Given the description of an element on the screen output the (x, y) to click on. 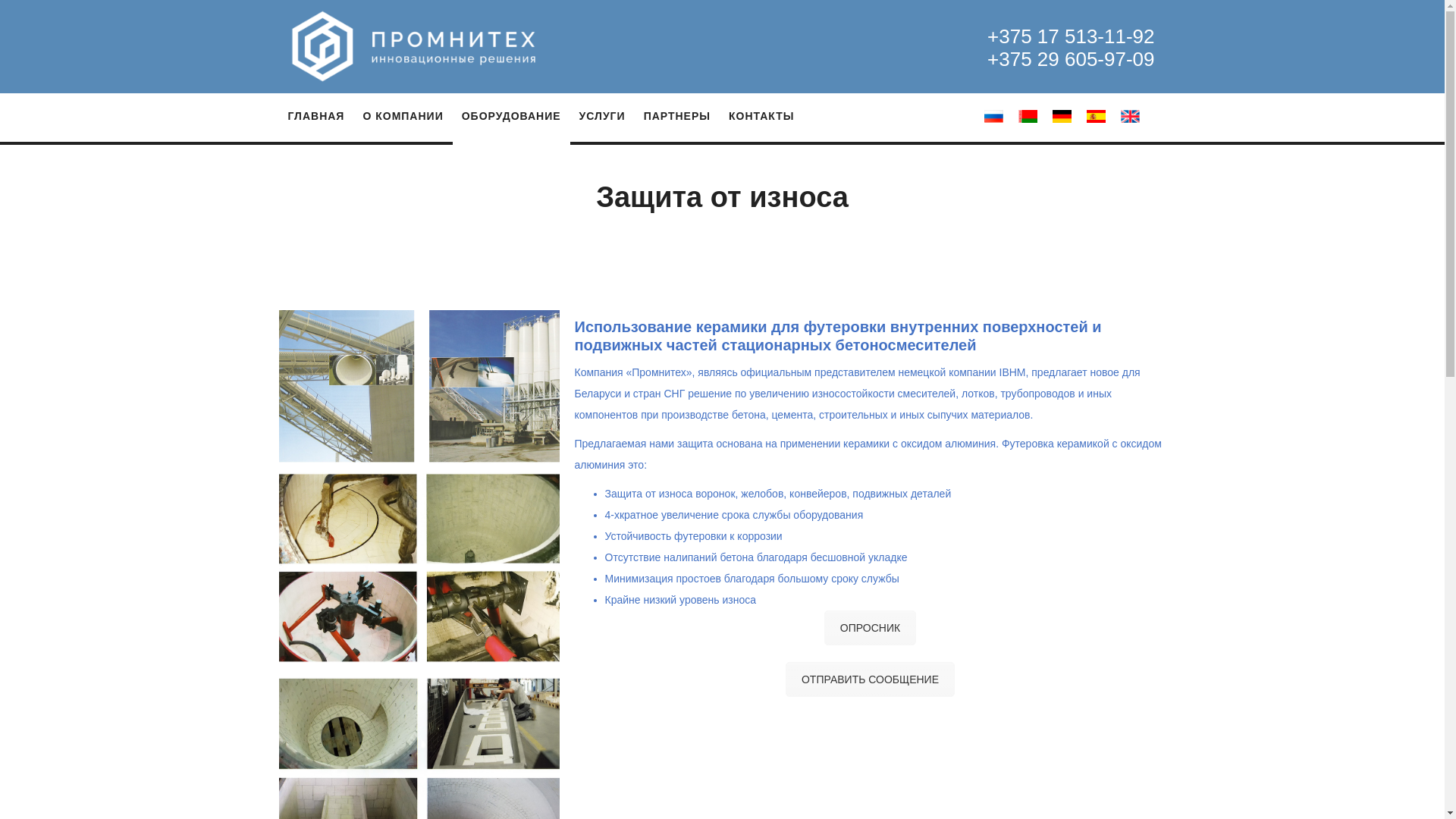
English Element type: hover (1129, 115)
Deutsch Element type: hover (1061, 115)
